Given the description of an element on the screen output the (x, y) to click on. 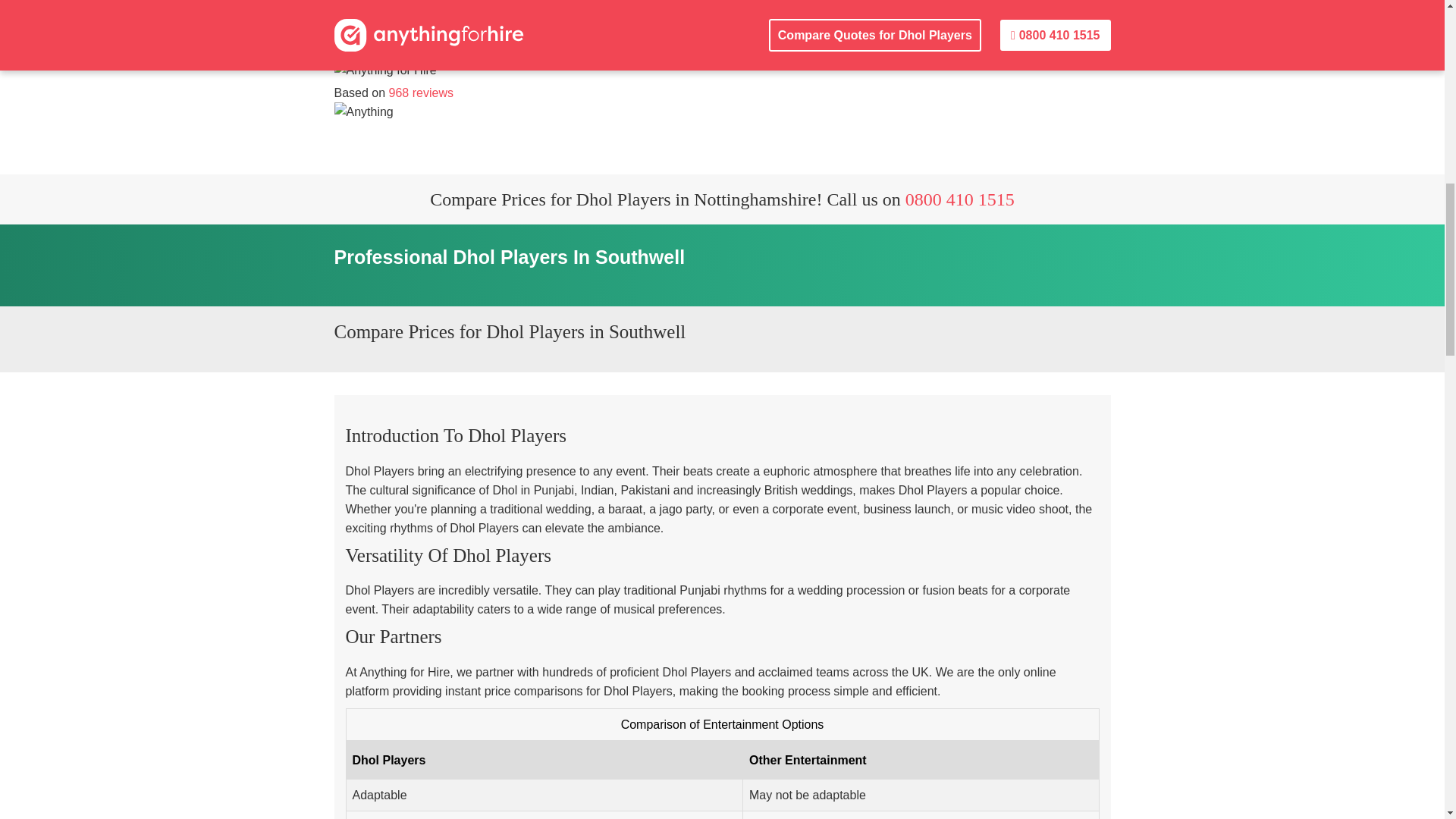
Anything for Hire trustpilot (371, 111)
968 reviews (420, 92)
Anything for Hire trustpilot (393, 71)
Read more (420, 92)
